Given the description of an element on the screen output the (x, y) to click on. 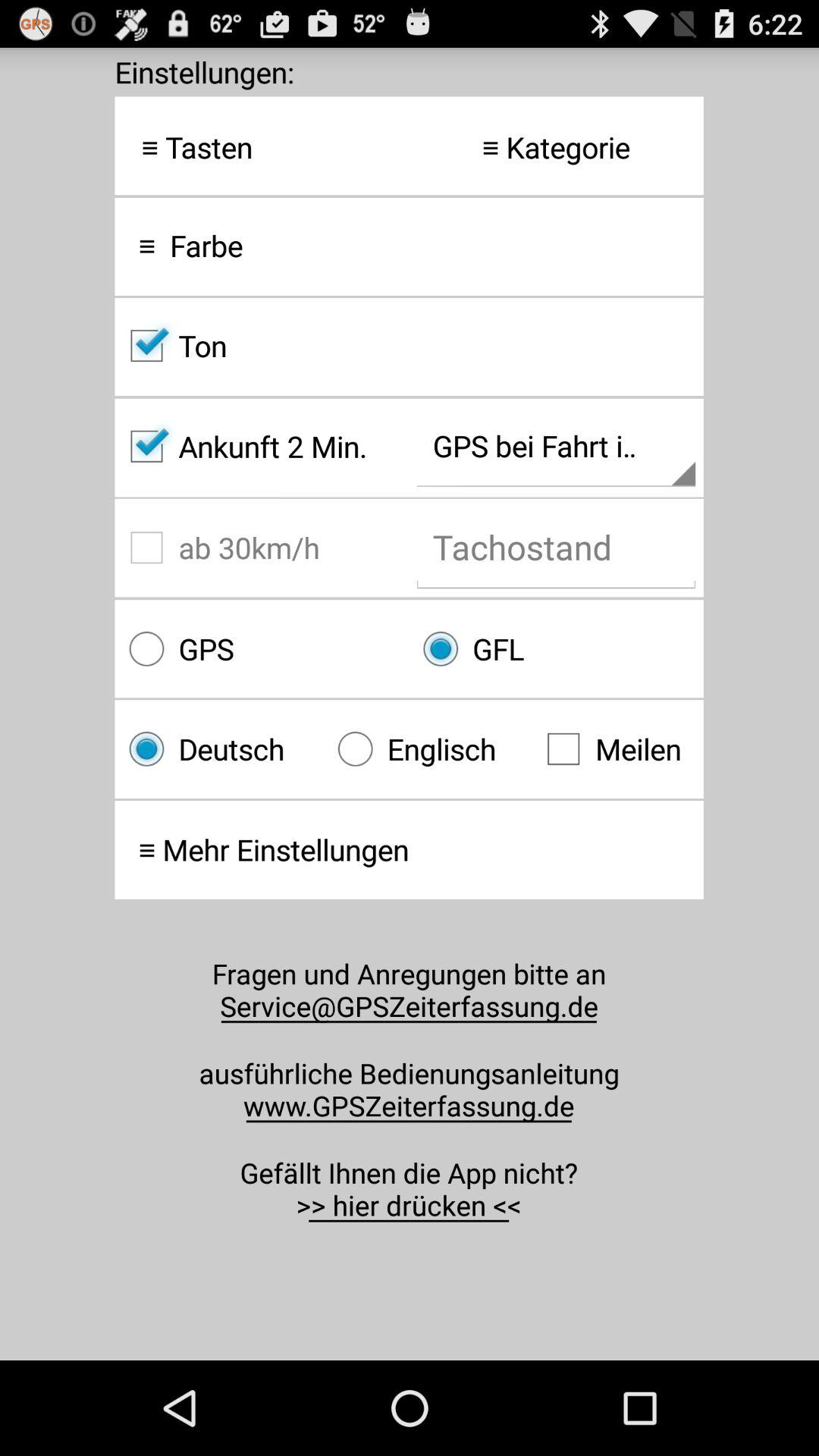
turn off icon to the right of englisch item (617, 748)
